Given the description of an element on the screen output the (x, y) to click on. 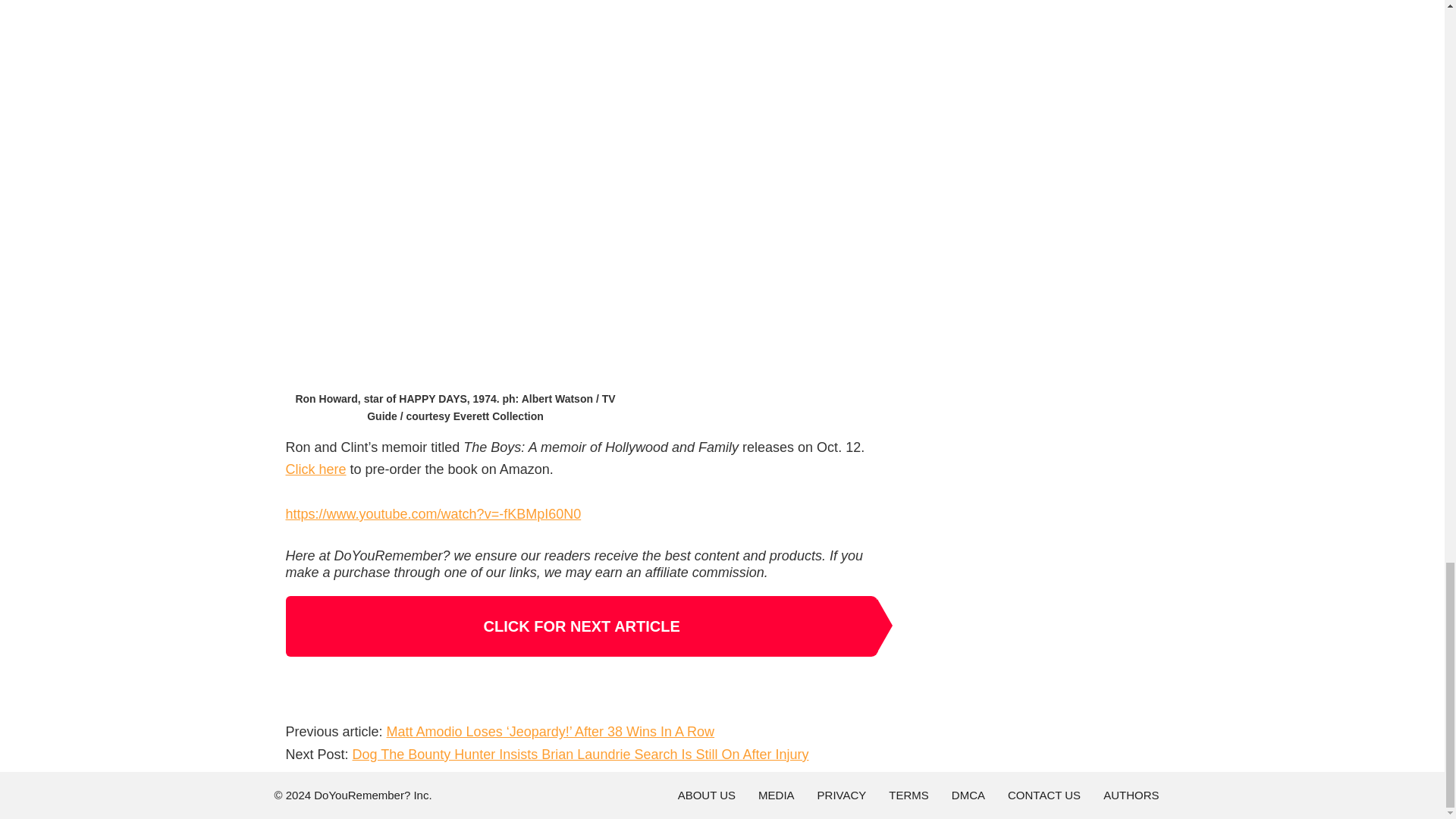
CLICK FOR NEXT ARTICLE (581, 626)
Click here (315, 468)
